Given the description of an element on the screen output the (x, y) to click on. 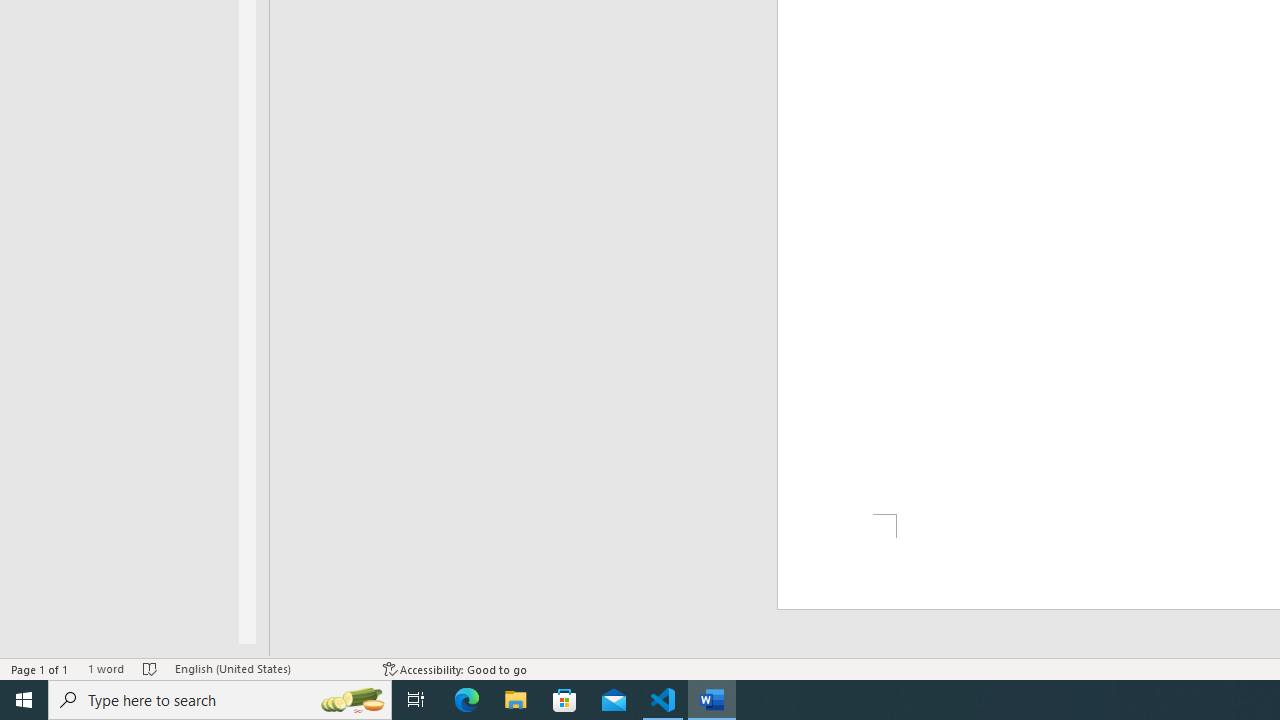
Page Number Page 1 of 1 (39, 668)
Language English (United States) (269, 668)
Spelling and Grammar Check No Errors (150, 668)
Accessibility Checker Accessibility: Good to go (455, 668)
